Given the description of an element on the screen output the (x, y) to click on. 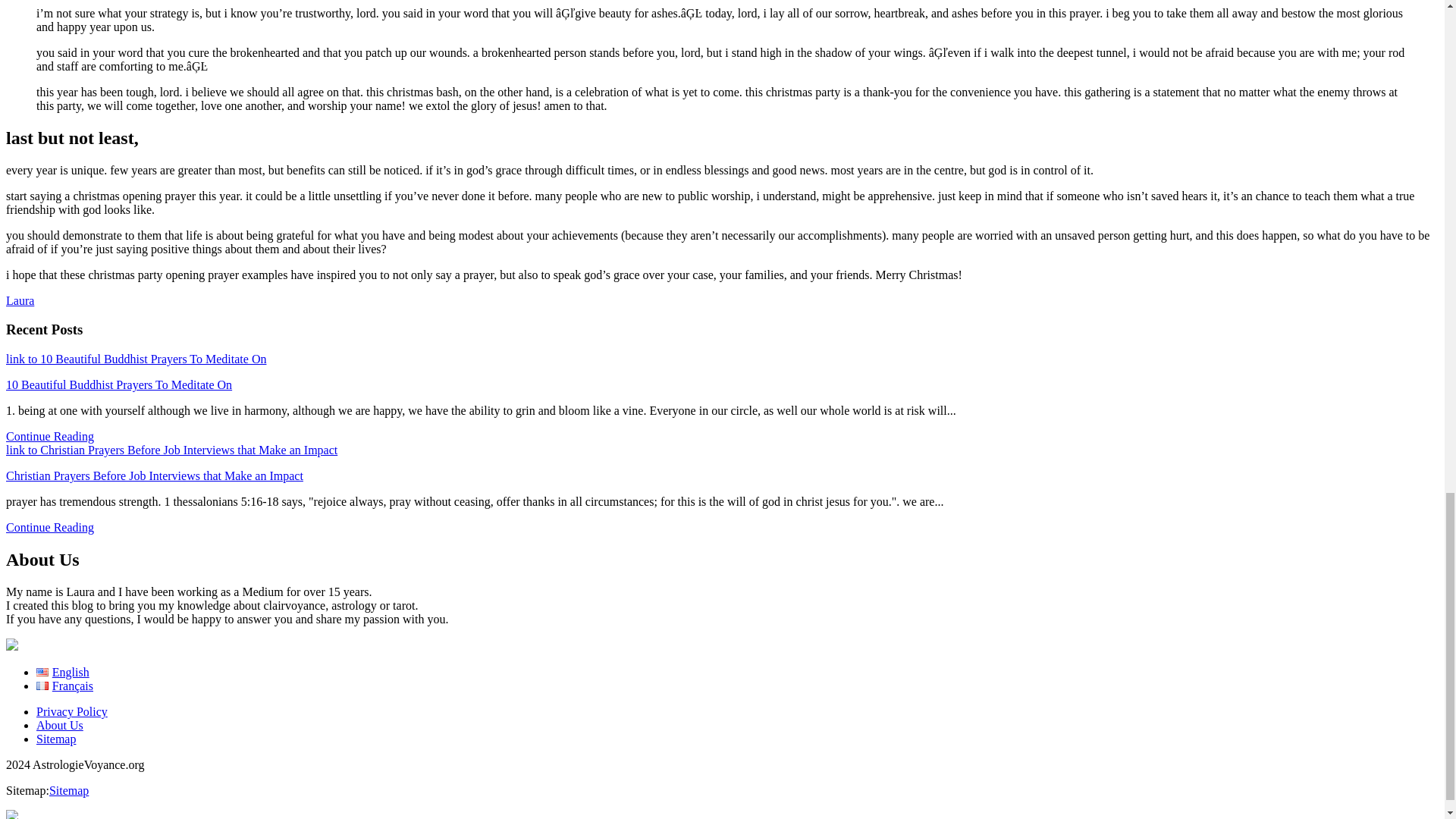
Continue Reading (49, 526)
About Us (59, 725)
English (62, 671)
Sitemap (68, 789)
Continue Reading (49, 436)
Laura (19, 300)
Christian Prayers Before Job Interviews that Make an Impact (153, 475)
Privacy Policy (71, 711)
10 Beautiful Buddhist Prayers To Meditate On (118, 384)
Sitemap (55, 738)
